Given the description of an element on the screen output the (x, y) to click on. 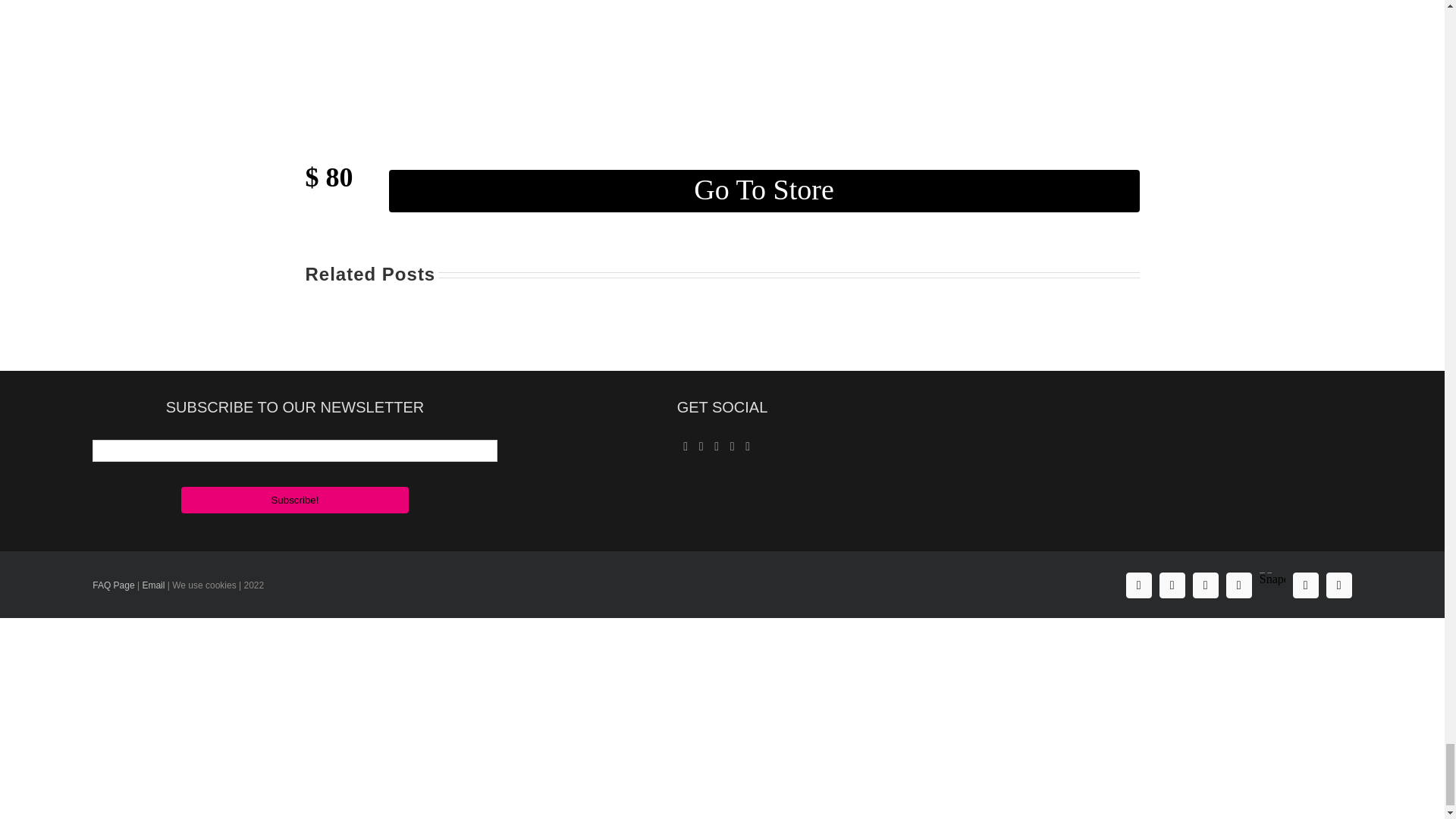
Vk (1305, 585)
Instagram (1171, 585)
Snapchat (1272, 573)
Pinterest (1238, 585)
Twitter (1205, 585)
Vk (1305, 585)
Subscribe! (294, 499)
Go To Store (763, 190)
FAQ Page (113, 584)
Subscribe! (294, 499)
Instagram (1171, 585)
Twitter (1205, 585)
Tumblr (1339, 585)
Email (294, 450)
Email (152, 584)
